Given the description of an element on the screen output the (x, y) to click on. 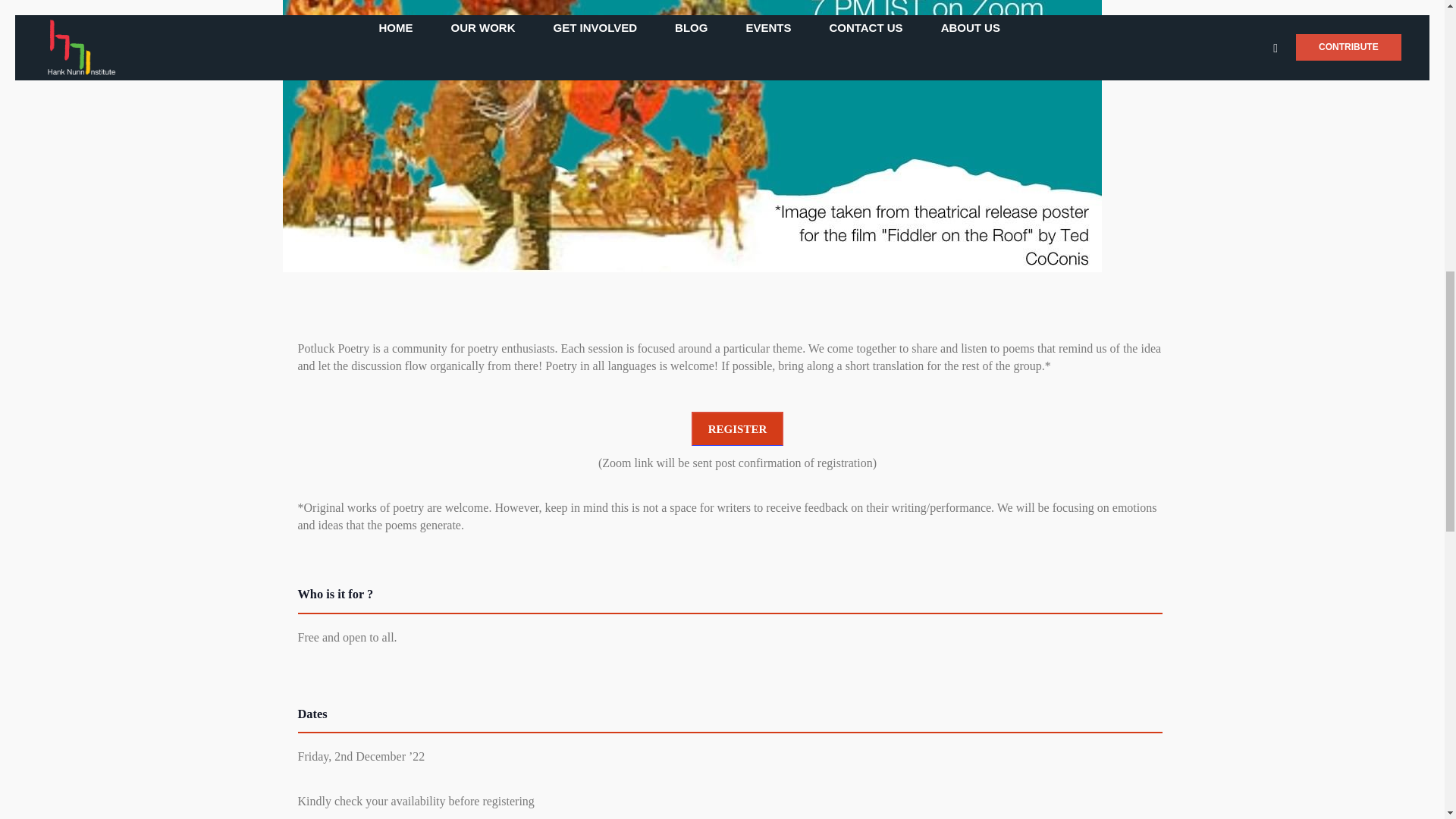
Edited (346, 637)
REGISTER (737, 428)
